Given the description of an element on the screen output the (x, y) to click on. 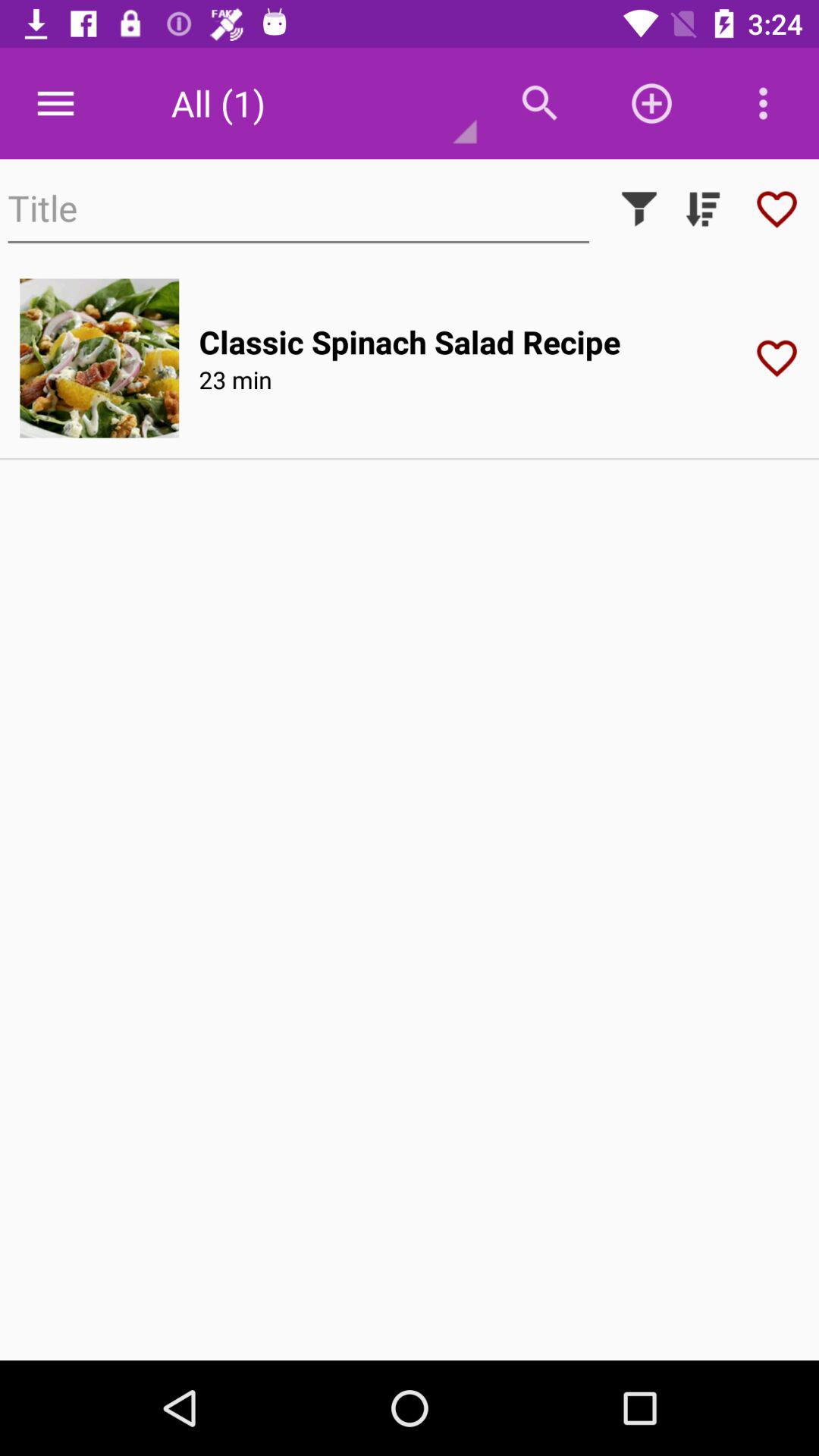
click icon above classic spinach salad icon (639, 208)
